Given the description of an element on the screen output the (x, y) to click on. 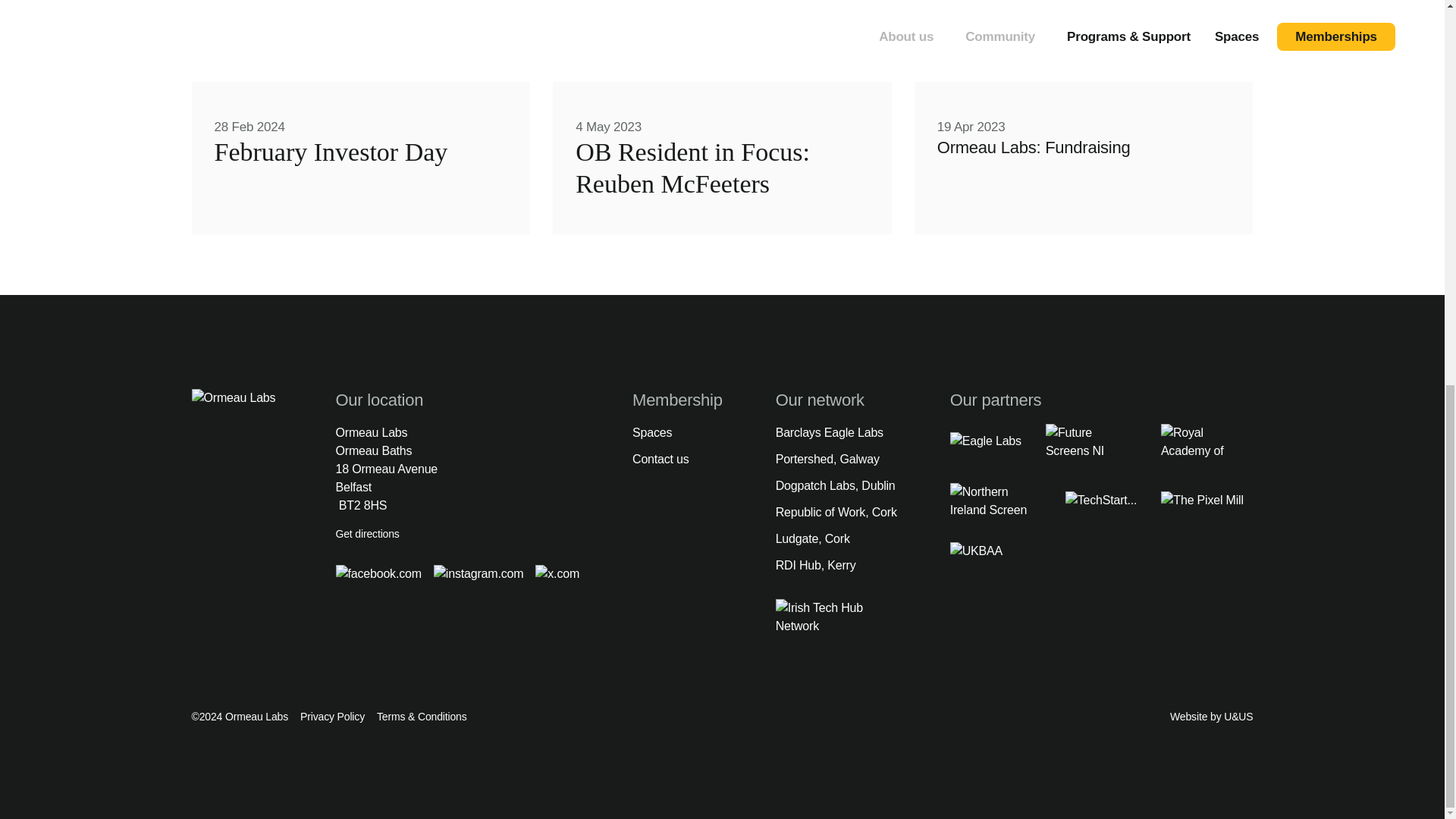
Ludgate, Cork (359, 155)
Portershed, Galway (722, 171)
Spaces (836, 538)
Privacy Policy (836, 459)
Get directions (676, 433)
Contact us (332, 717)
Dogpatch Labs, Dublin (366, 533)
Republic of Work, Cork (676, 459)
RDI Hub, Kerry (836, 485)
Barclays Eagle Labs (836, 512)
